Given the description of an element on the screen output the (x, y) to click on. 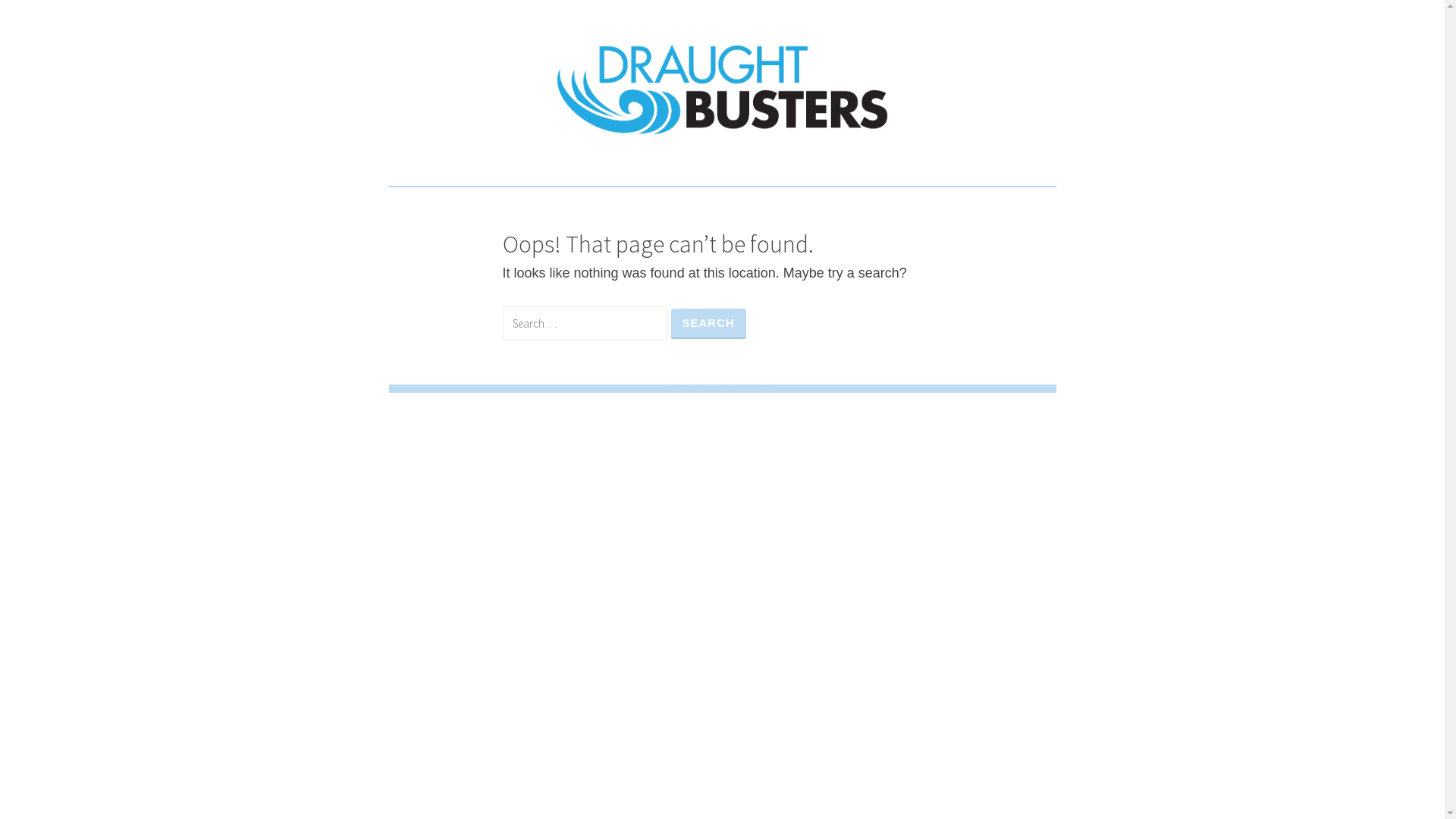
Draught Busters Element type: text (559, 179)
PROUDLY POWERED BY WORDPRESS Element type: text (693, 388)
AUTOMATTIC Element type: text (767, 388)
Search Element type: text (708, 323)
